Given the description of an element on the screen output the (x, y) to click on. 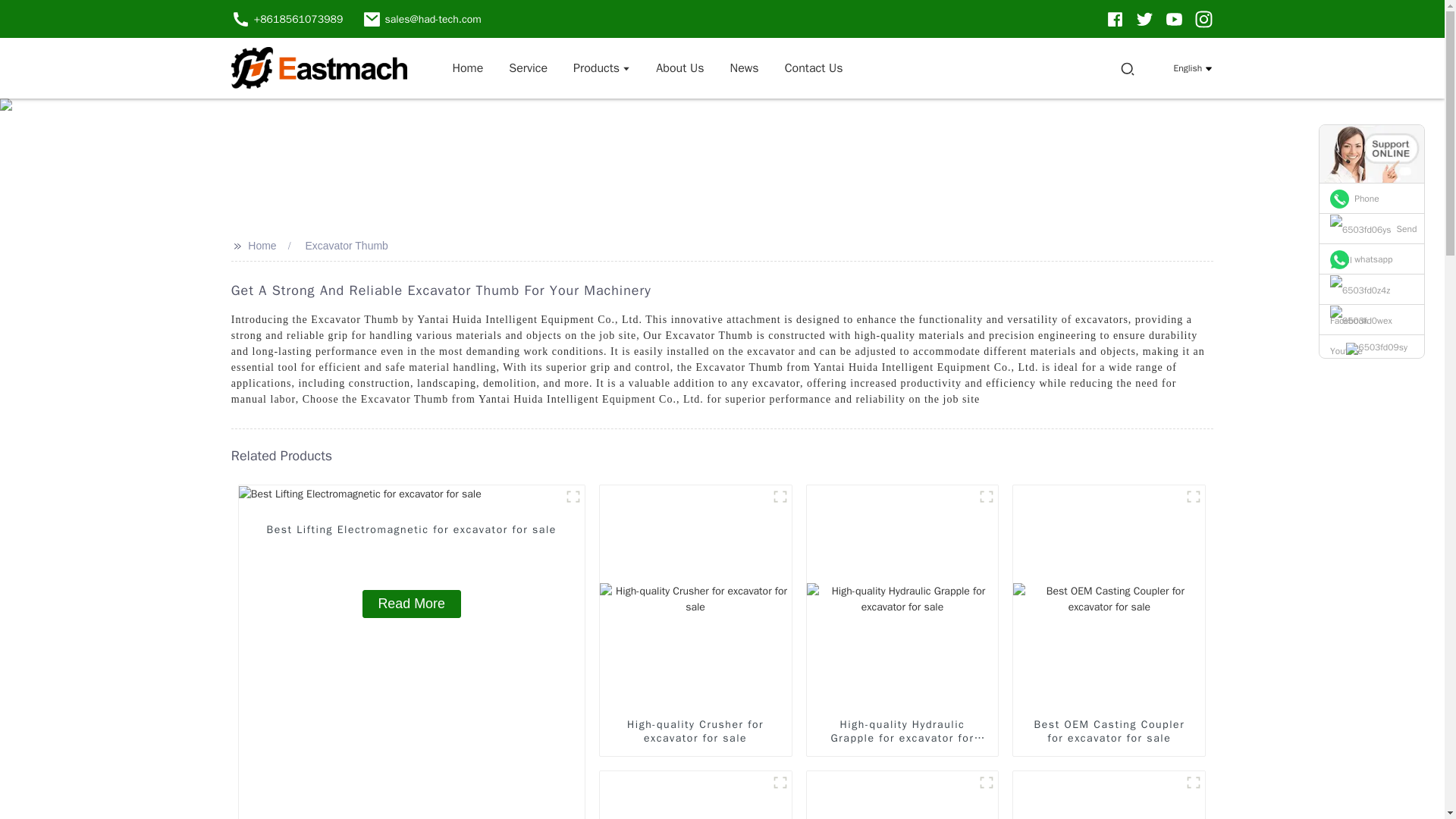
Service (527, 67)
Service (527, 67)
Contact Us (813, 67)
products (601, 67)
Products (601, 67)
Contact Us (813, 67)
About Us (679, 67)
About Us (679, 67)
